Given the description of an element on the screen output the (x, y) to click on. 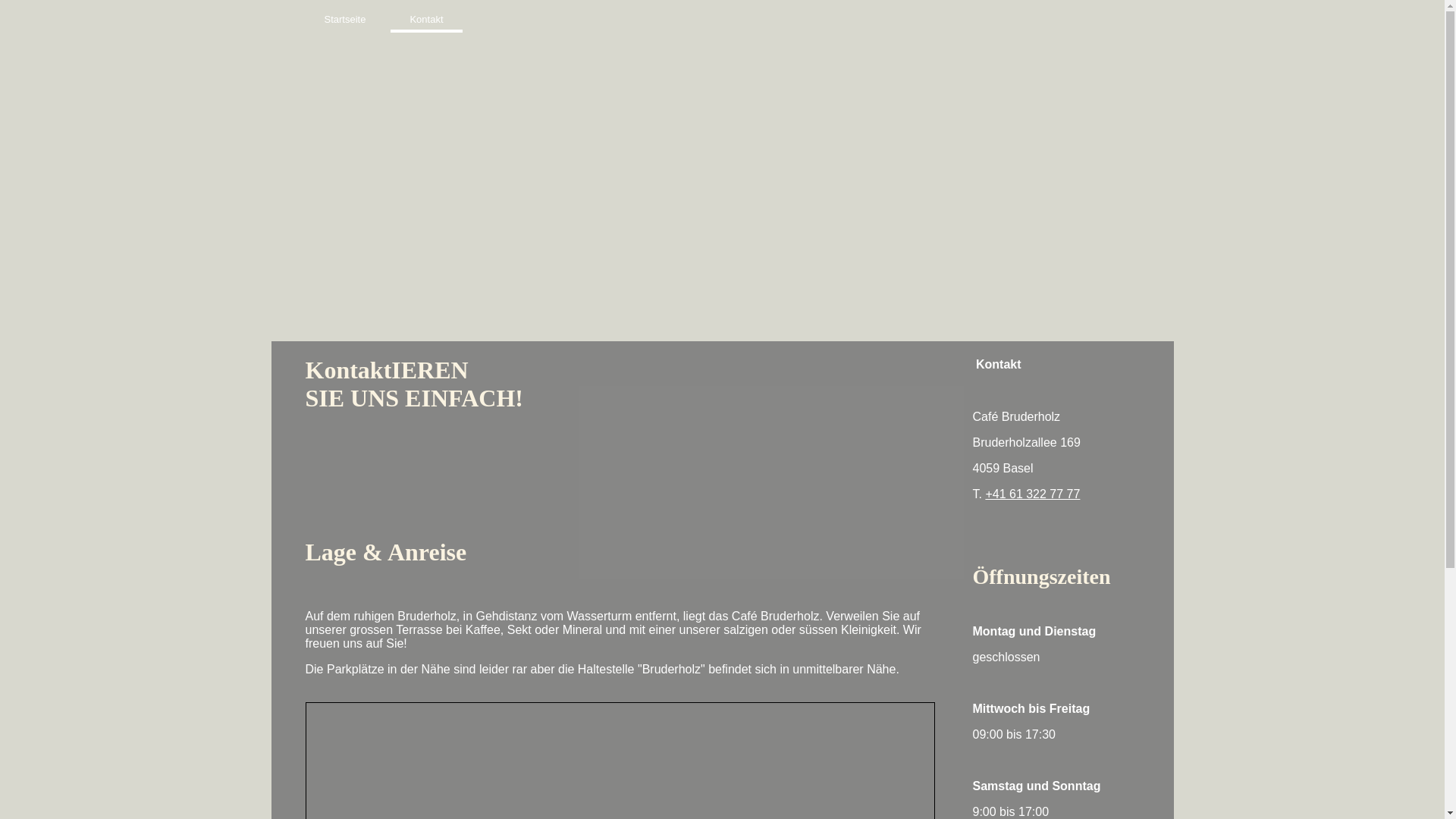
Kontakt Element type: text (425, 19)
+41 61 322 77 77 Element type: text (1032, 493)
Startseite Element type: text (344, 19)
